Given the description of an element on the screen output the (x, y) to click on. 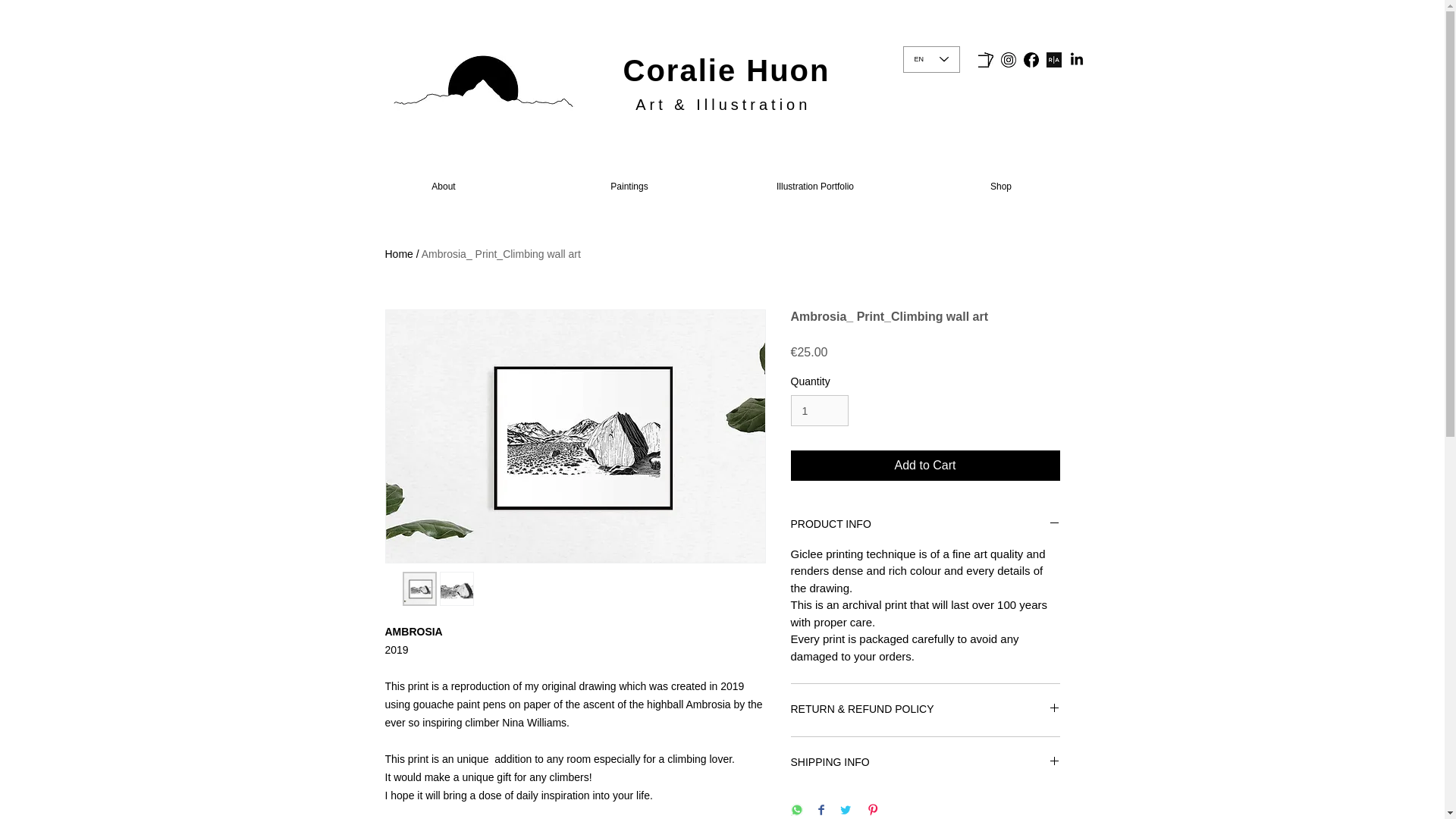
Add to Cart (924, 465)
SHIPPING INFO (924, 763)
1 (818, 409)
About (442, 185)
PRODUCT INFO (924, 524)
Shop (1001, 185)
Paintings (629, 185)
Illustration Portfolio (814, 185)
Home (399, 254)
Coralie Huon (726, 70)
